Given the description of an element on the screen output the (x, y) to click on. 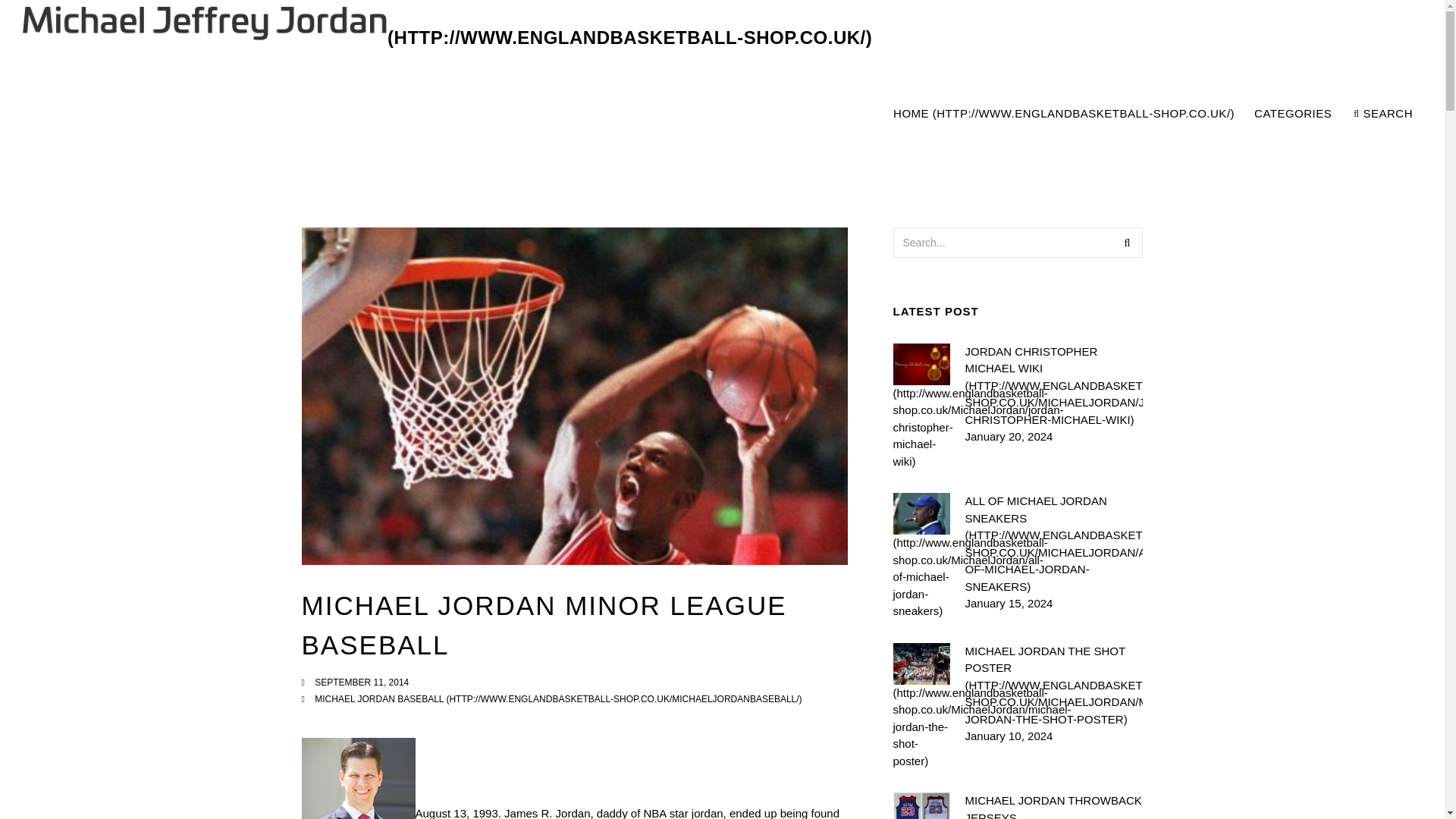
SEARCH (1382, 113)
ALL OF MICHAEL JORDAN SNEAKERS (1052, 544)
JORDAN CHRISTOPHER MICHAEL WIKI (1052, 385)
Search (1126, 242)
HOME (1063, 113)
CATEGORIES (1293, 113)
MICHAEL JORDAN BASEBALL (558, 698)
Michael Jeffrey Jordan (1152, 113)
